Given the description of an element on the screen output the (x, y) to click on. 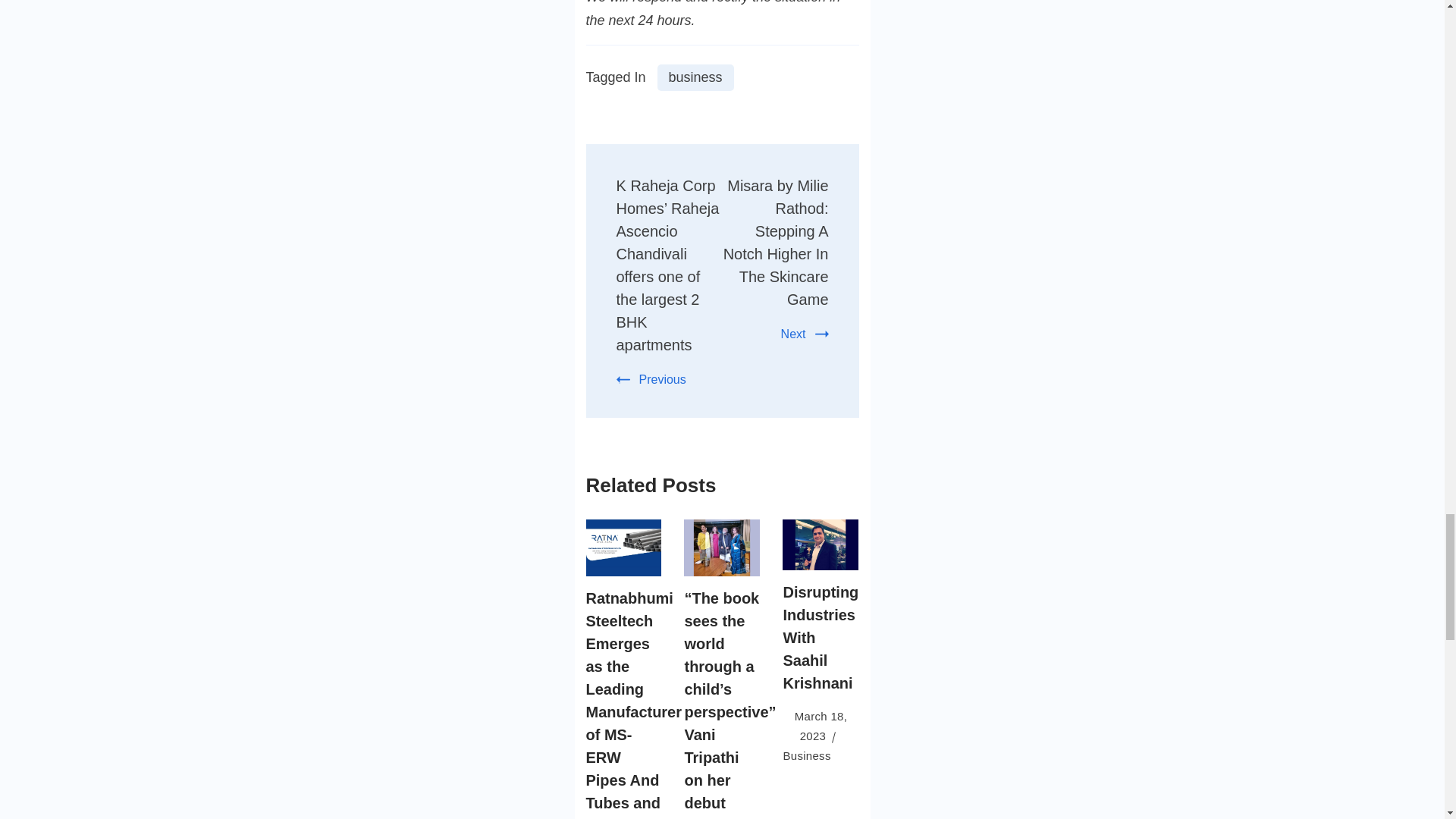
Next (804, 333)
business (695, 77)
Previous (650, 379)
